Given the description of an element on the screen output the (x, y) to click on. 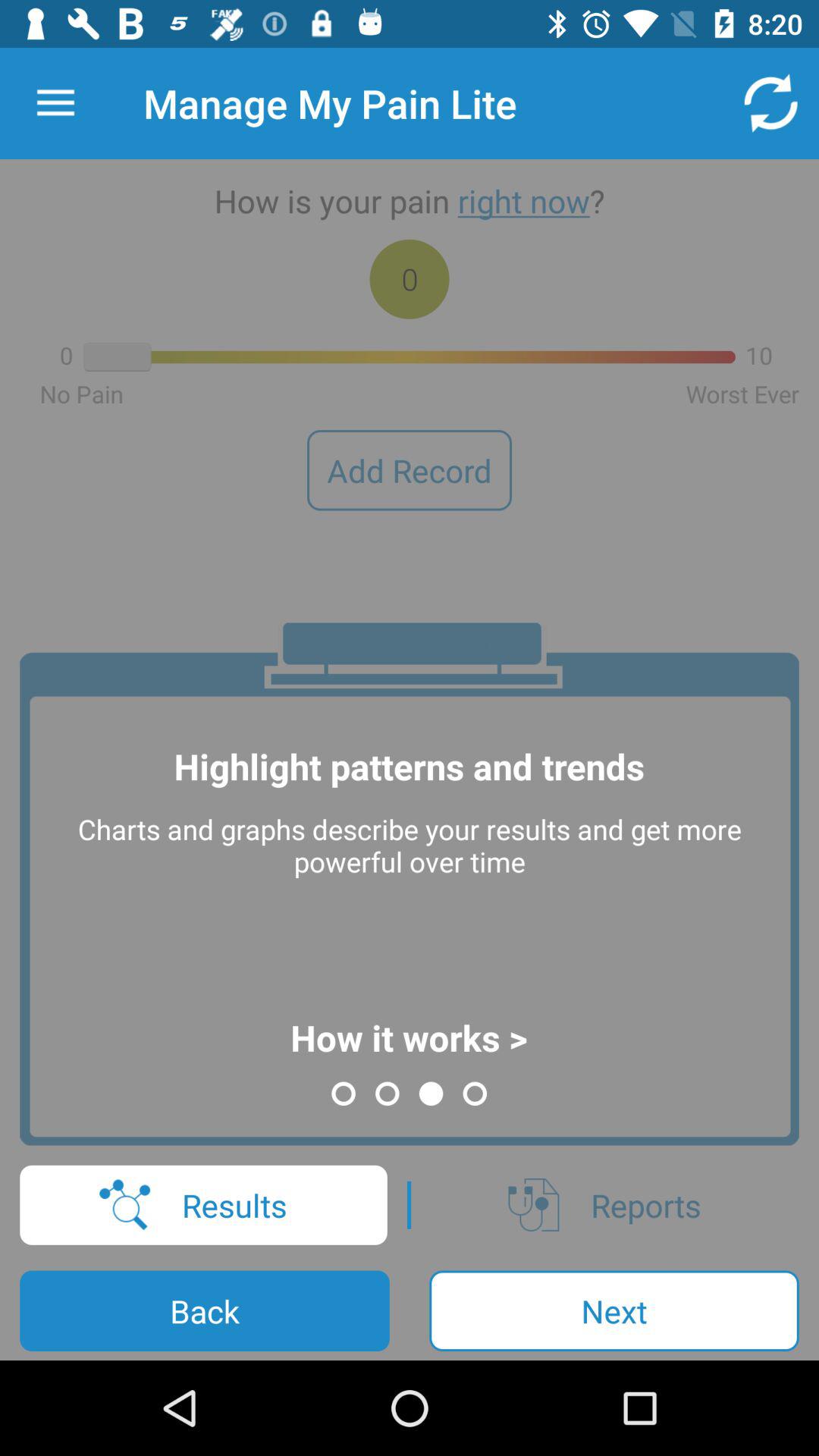
choose the selection (55, 103)
